Given the description of an element on the screen output the (x, y) to click on. 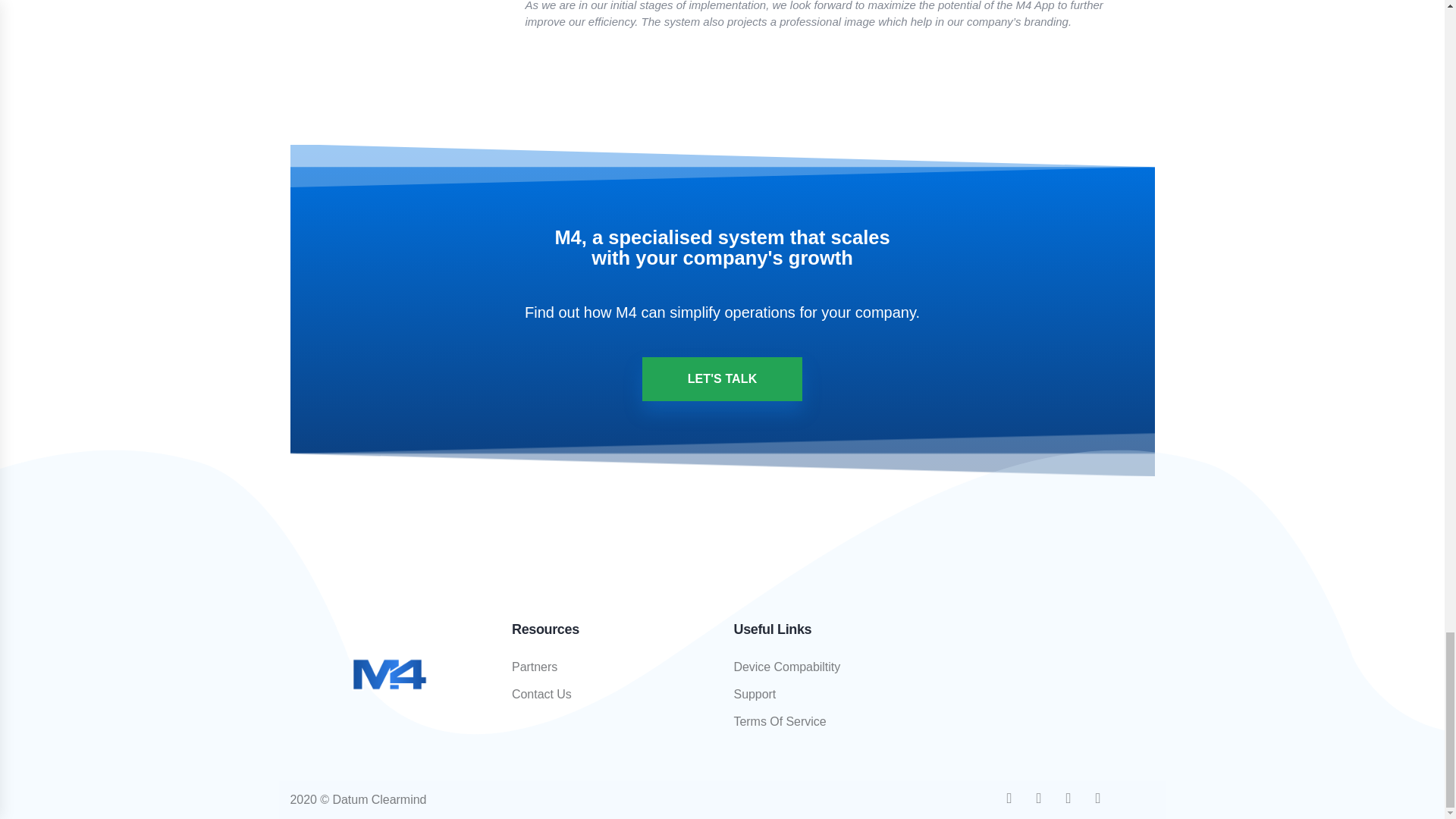
Partners (611, 666)
Terms Of Service (833, 721)
Contact Us (611, 694)
Device Compabiltity (833, 666)
LET'S TALK (722, 378)
Support (833, 694)
